Given the description of an element on the screen output the (x, y) to click on. 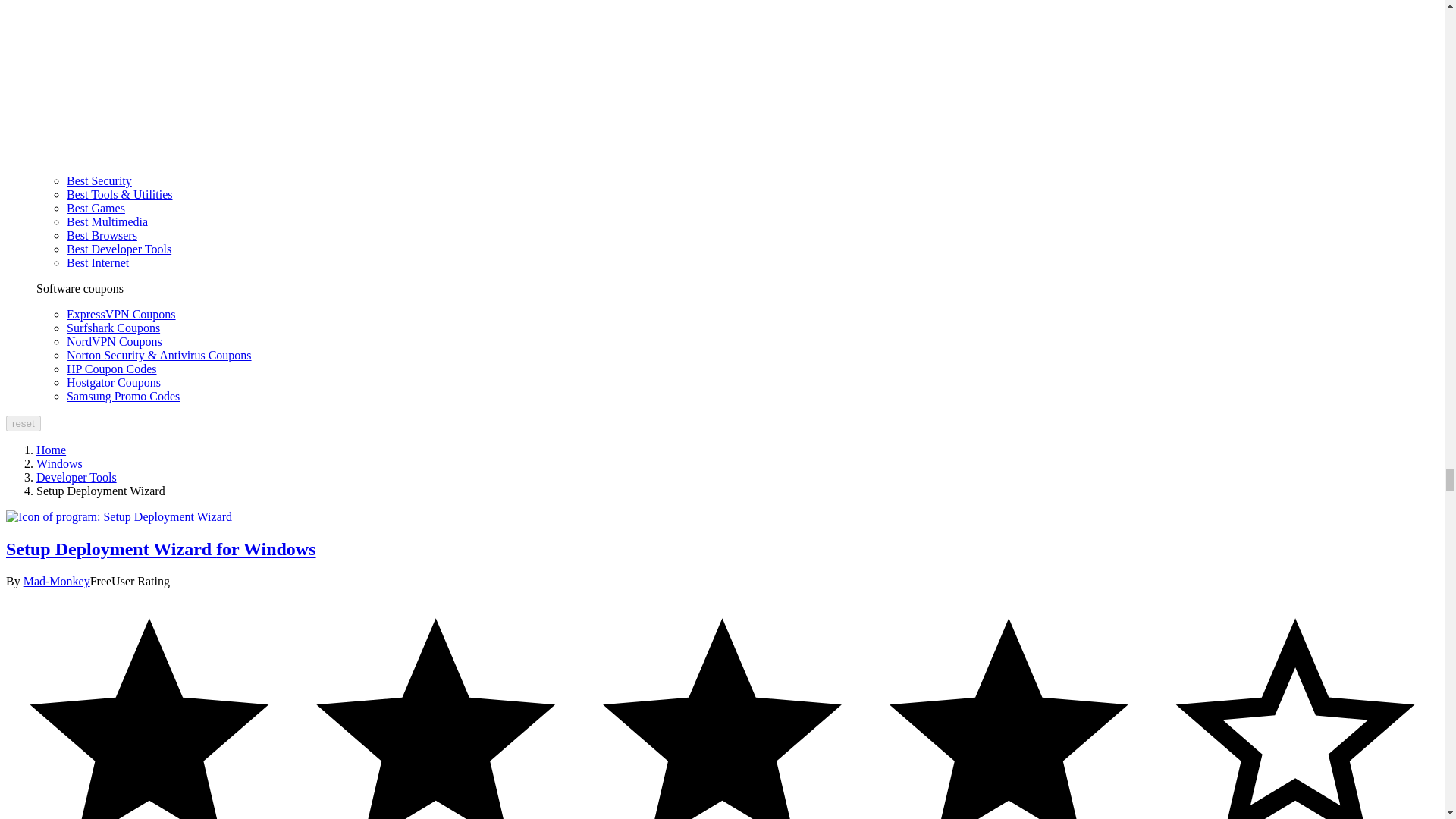
reset (22, 423)
Setup Deployment Wizard for Windows (118, 516)
